Given the description of an element on the screen output the (x, y) to click on. 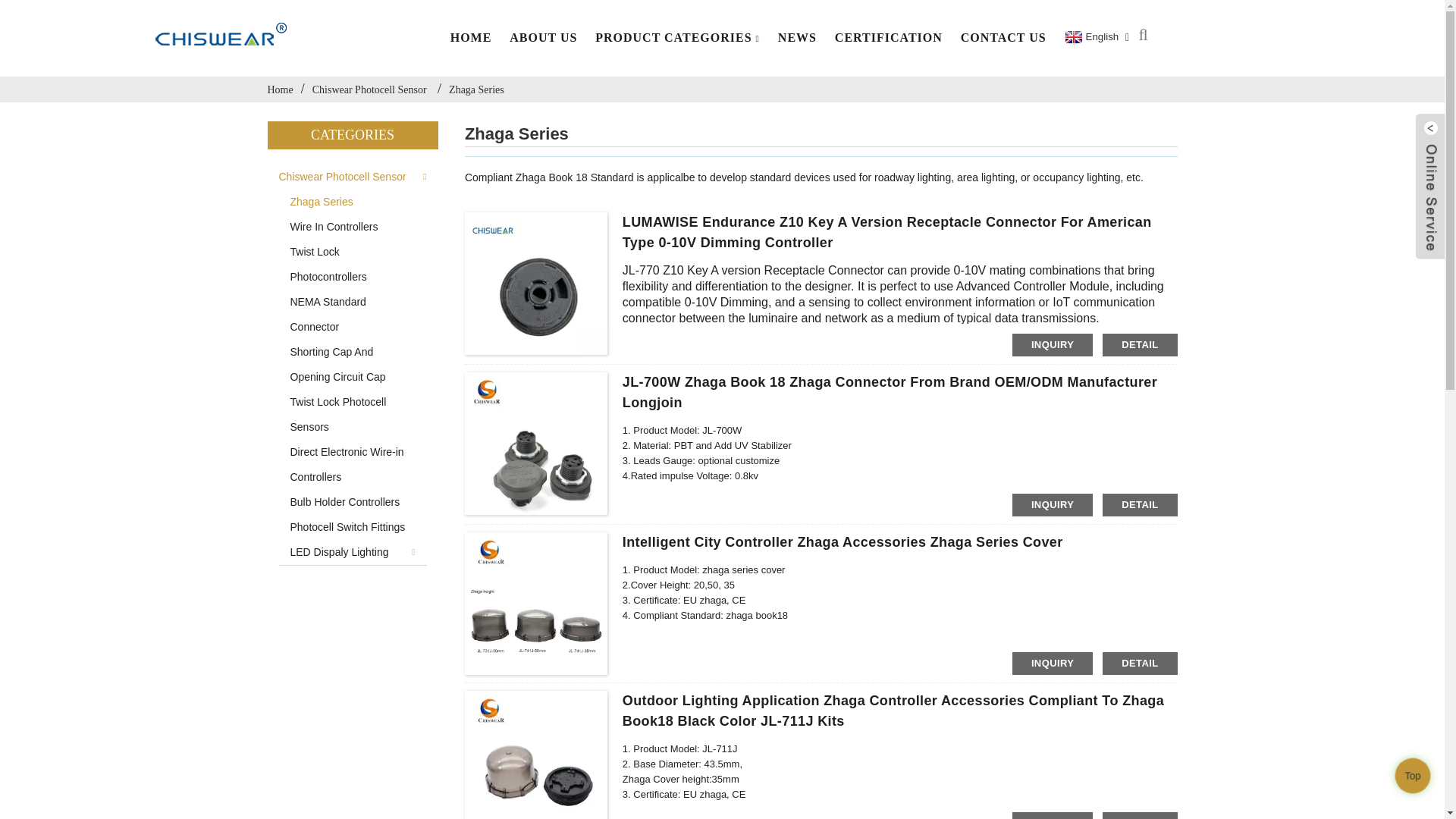
English (1090, 37)
ABOUT US (543, 38)
CERTIFICATION (888, 38)
PRODUCT CATEGORIES (677, 38)
CONTACT US (1003, 38)
